Given the description of an element on the screen output the (x, y) to click on. 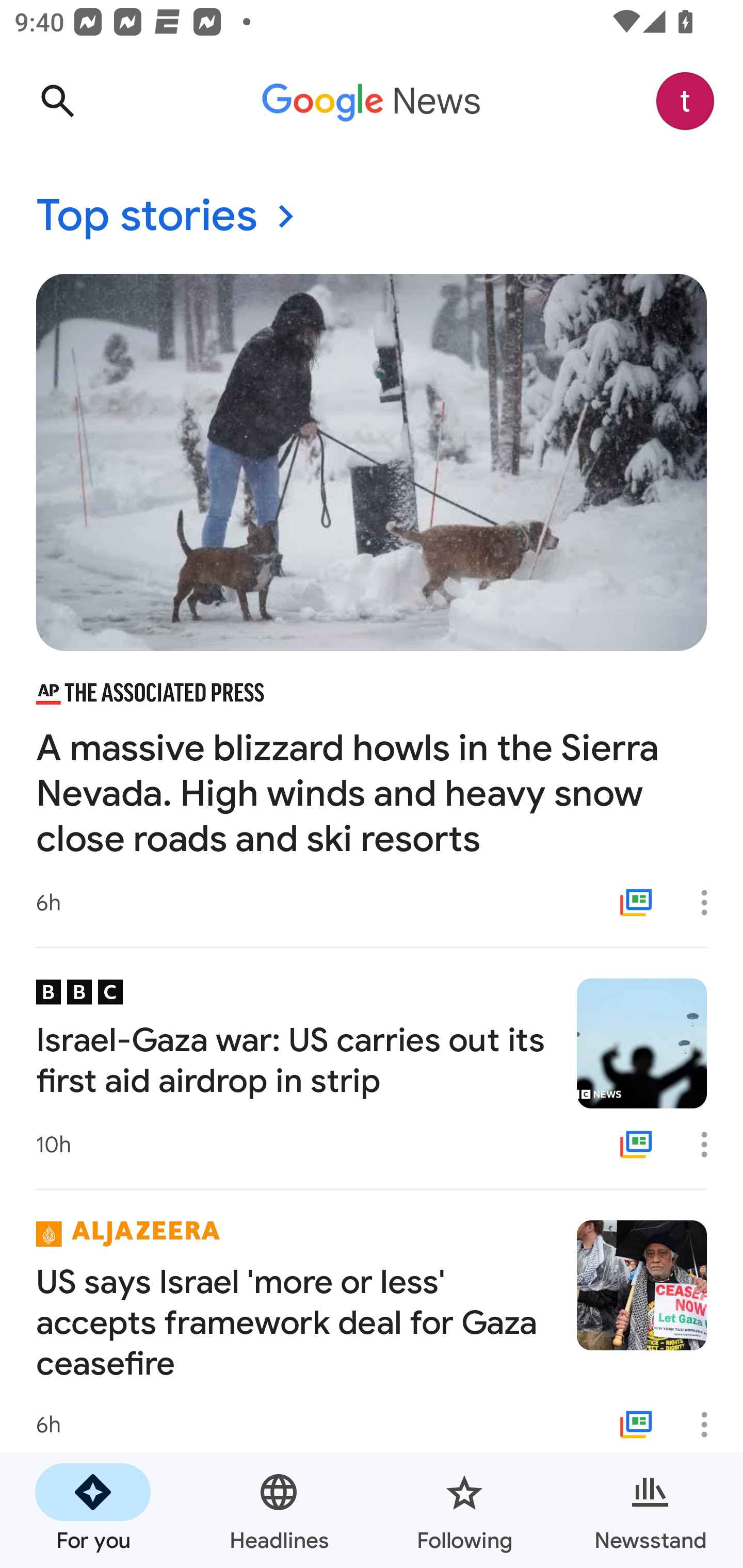
Search (57, 100)
Top stories (371, 216)
More options (711, 902)
More options (711, 1144)
More options (711, 1424)
For you (92, 1509)
Headlines (278, 1509)
Following (464, 1509)
Newsstand (650, 1509)
